Given the description of an element on the screen output the (x, y) to click on. 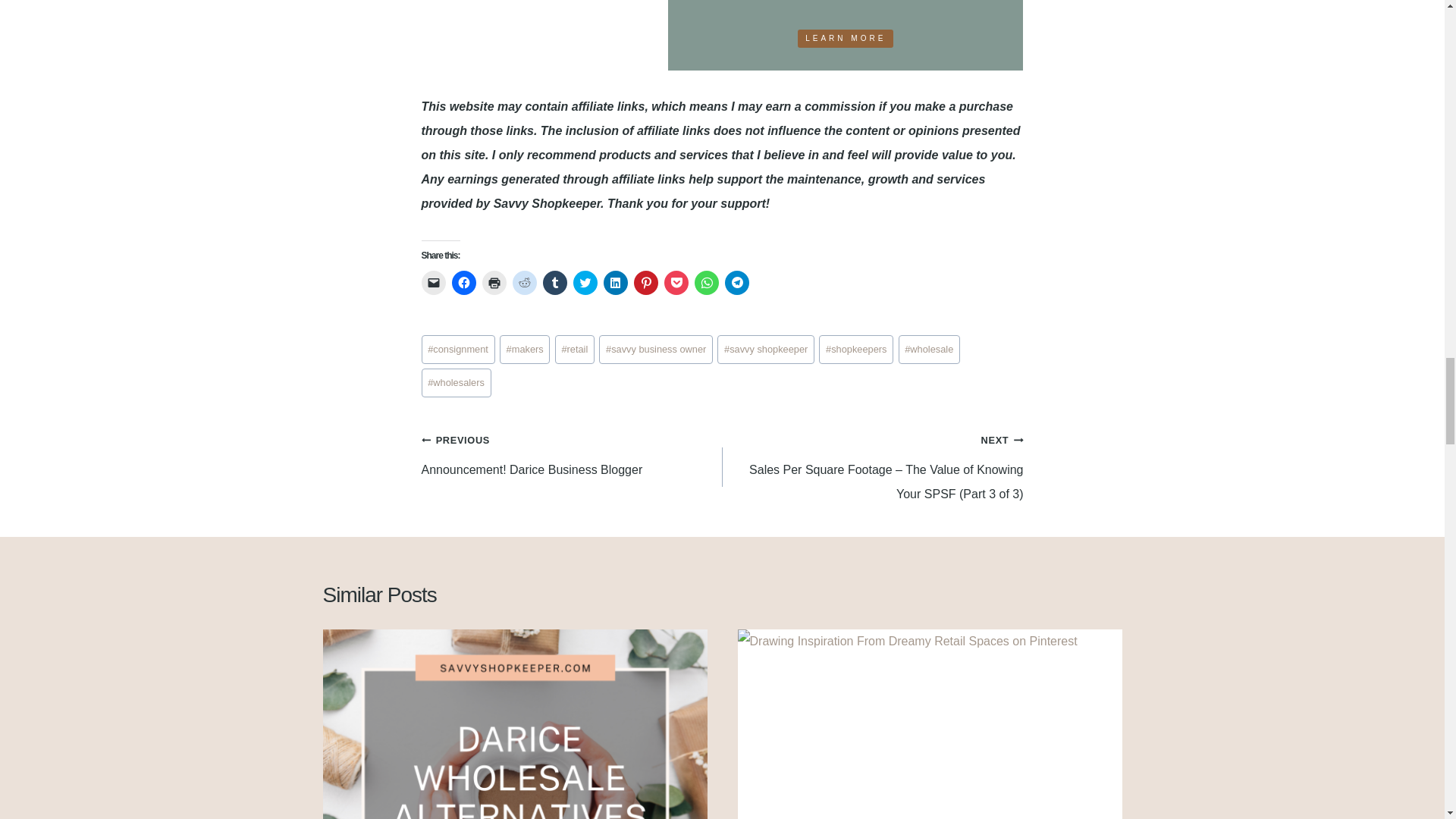
Click to print (493, 282)
Click to share on Facebook (463, 282)
LEARN MORE (845, 38)
Click to share on Pinterest (645, 282)
Click to share on Telegram (737, 282)
Click to email a link to a friend (433, 282)
Click to share on Twitter (584, 282)
Click to share on Reddit (524, 282)
Click to share on LinkedIn (615, 282)
Click to share on WhatsApp (706, 282)
Click to share on Pocket (675, 282)
makers (524, 348)
Click to share on Tumblr (555, 282)
consignment (458, 348)
